Given the description of an element on the screen output the (x, y) to click on. 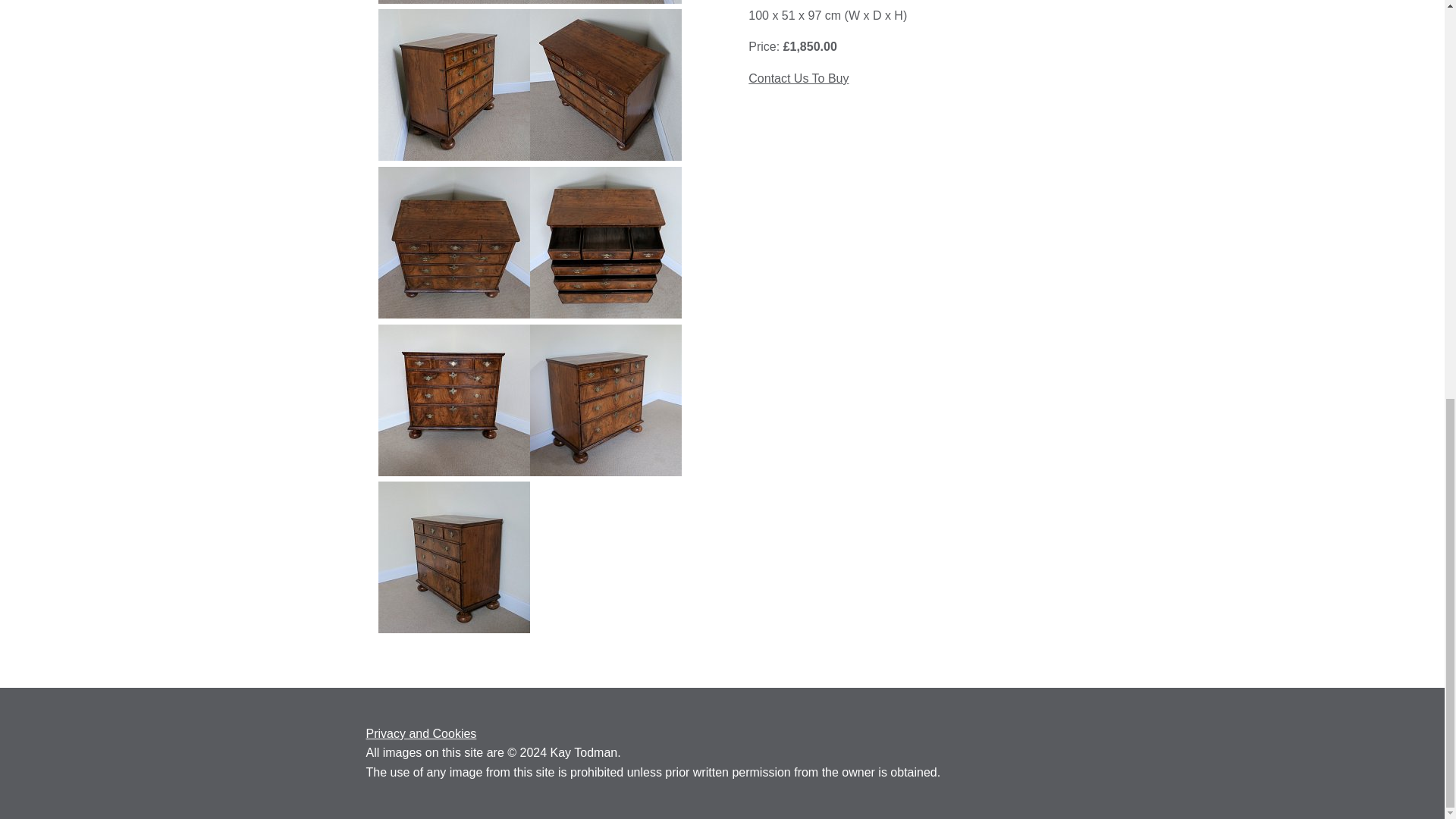
Contact Us To Buy (798, 78)
Privacy and Cookies (420, 733)
